Given the description of an element on the screen output the (x, y) to click on. 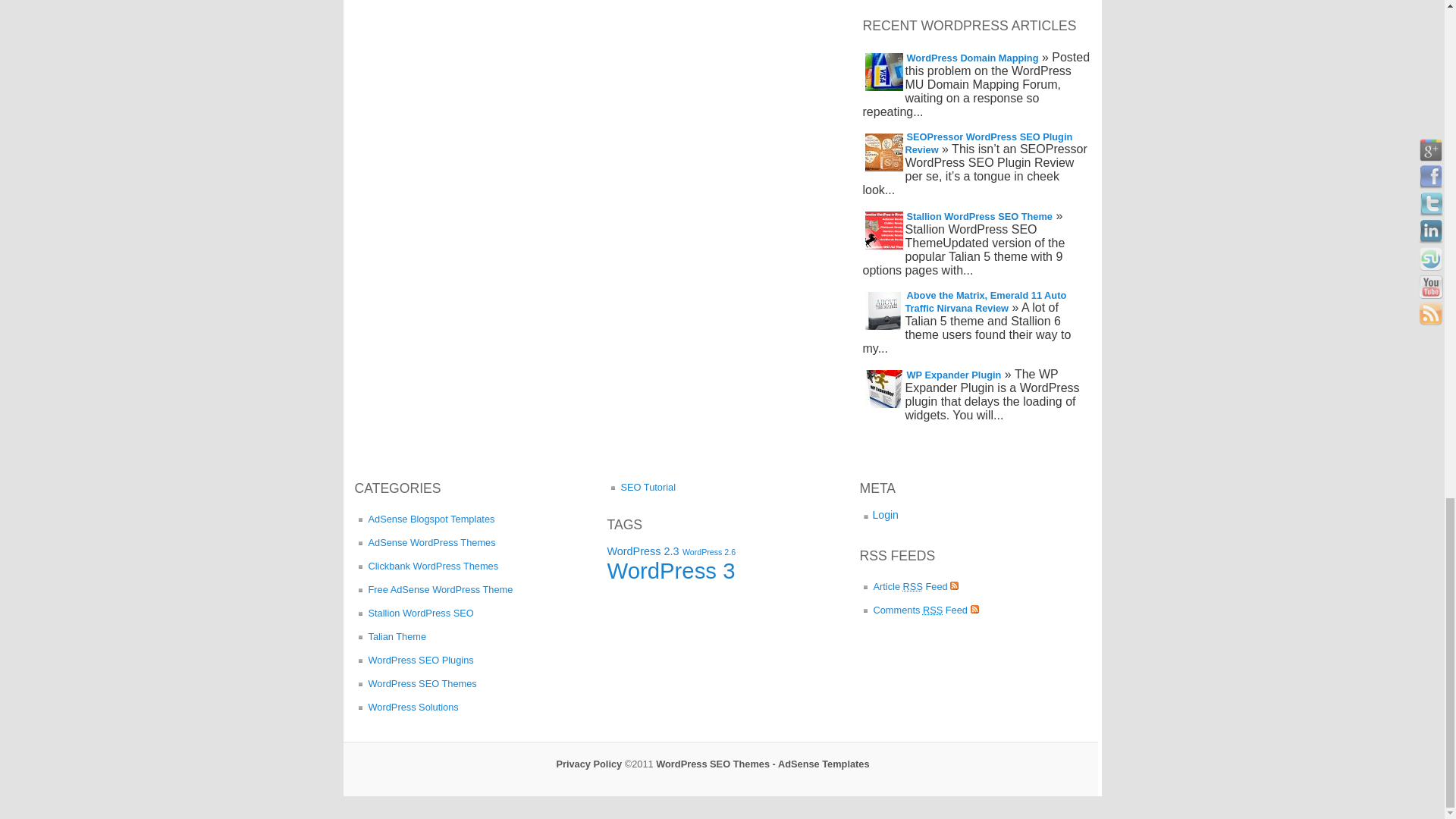
View all posts filed under AdSense WordPress Themes (425, 542)
AdSense Blogspot Templates (425, 519)
View all posts filed under WordPress SEO Themes (416, 683)
View all posts filed under Clickbank WordPress Themes (427, 565)
View all posts filed under WordPress Solutions (406, 706)
Above the Matrix, Emerald 11 Auto Traffic Nirvana Review (986, 301)
Above the Matrix, Emerald 11 Auto Traffic Nirvana Review (986, 301)
SEOPressor WordPress SEO Plugin Review (989, 143)
Stallion WordPress SEO (414, 612)
View all posts filed under Free AdSense WordPress Theme (434, 589)
WP Expander Plugin (953, 374)
2 topics (642, 551)
Blogspot Themes (425, 519)
Stallion WordPress SEO Theme (978, 216)
View all posts filed under Stallion WordPress SEO (414, 612)
